Given the description of an element on the screen output the (x, y) to click on. 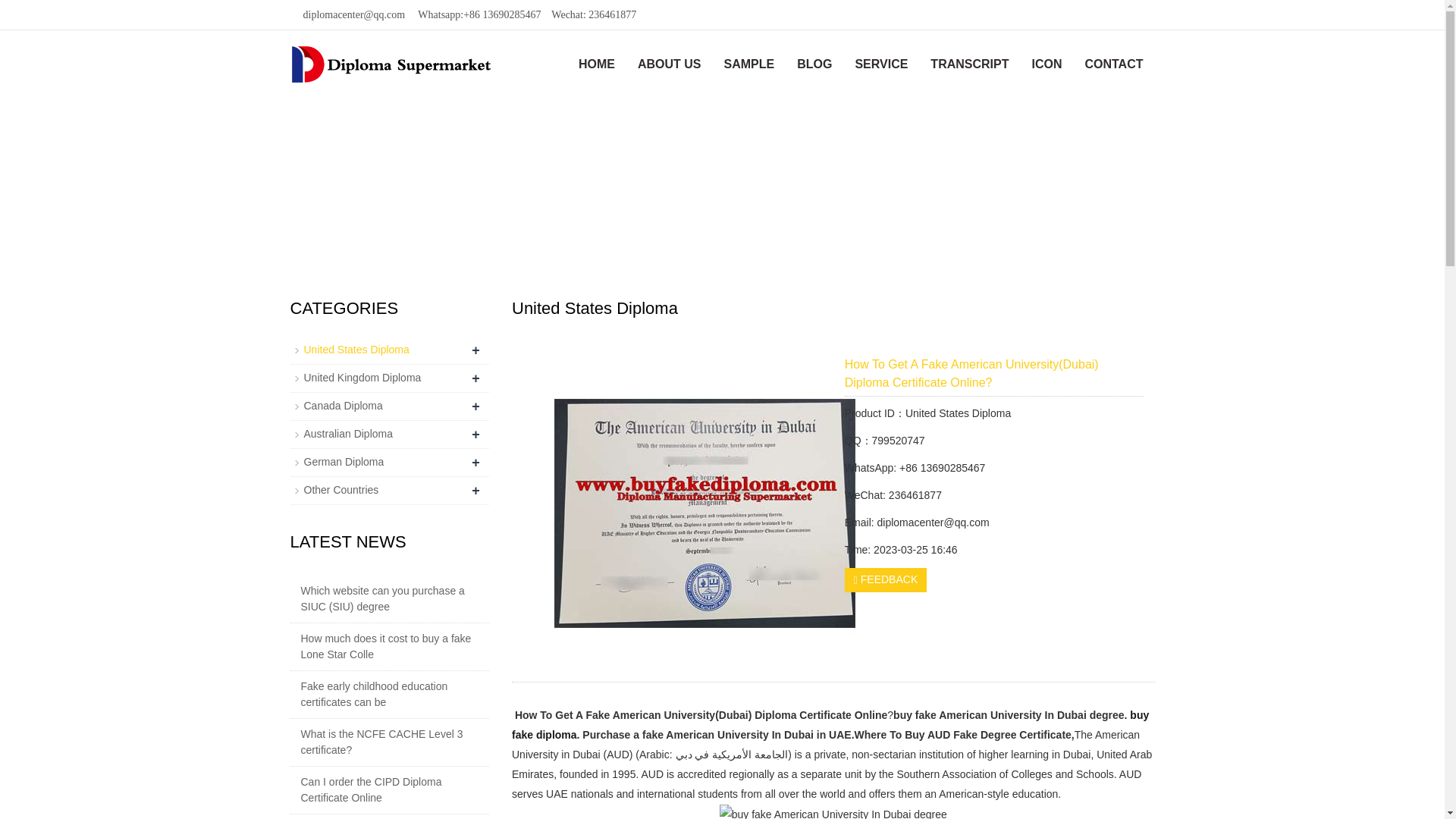
Can I order the CIPD Diploma Certificate Online (394, 789)
What is the NCFE CACHE Level 3 certificate? (394, 742)
SAMPLE (749, 64)
TRANSCRIPT (969, 64)
ABOUT US (669, 64)
Fake early childhood education certificates can be  (394, 694)
SERVICE (880, 64)
How much does it cost to buy a fake Lone Star Colle (394, 646)
